Given the description of an element on the screen output the (x, y) to click on. 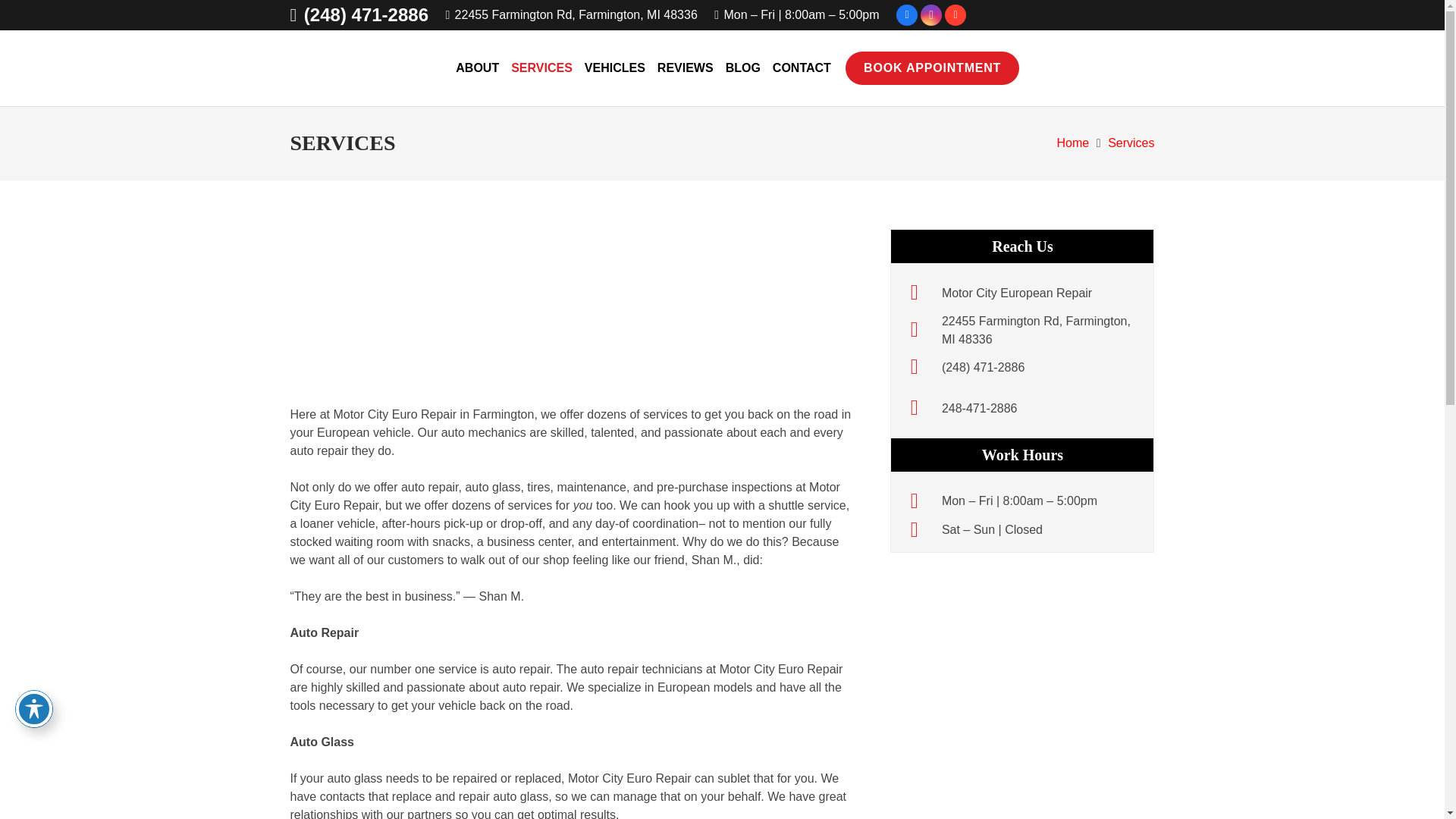
Home (1017, 293)
ABOUT (477, 67)
Instagram (931, 14)
services-gallery-01 (383, 299)
Google (955, 14)
services-gallery-03 (760, 299)
22455 Farmington Rd, Farmington, MI 48336 (571, 14)
Home (921, 292)
services-gallery-02 (572, 299)
Facebook (906, 14)
SERVICES (541, 67)
